Given the description of an element on the screen output the (x, y) to click on. 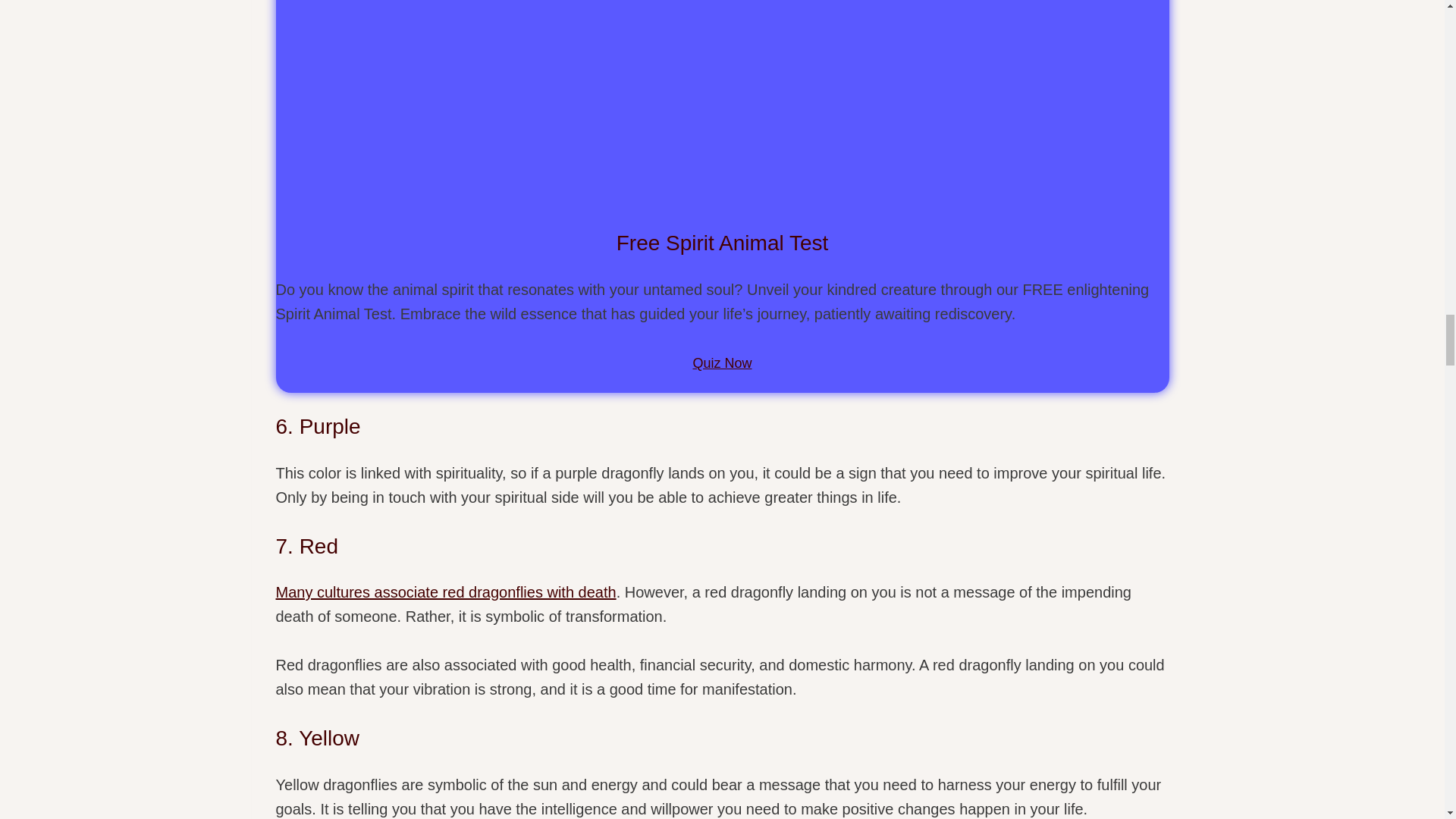
Quiz Now (721, 363)
Many cultures associate red dragonflies with death (445, 591)
